Given the description of an element on the screen output the (x, y) to click on. 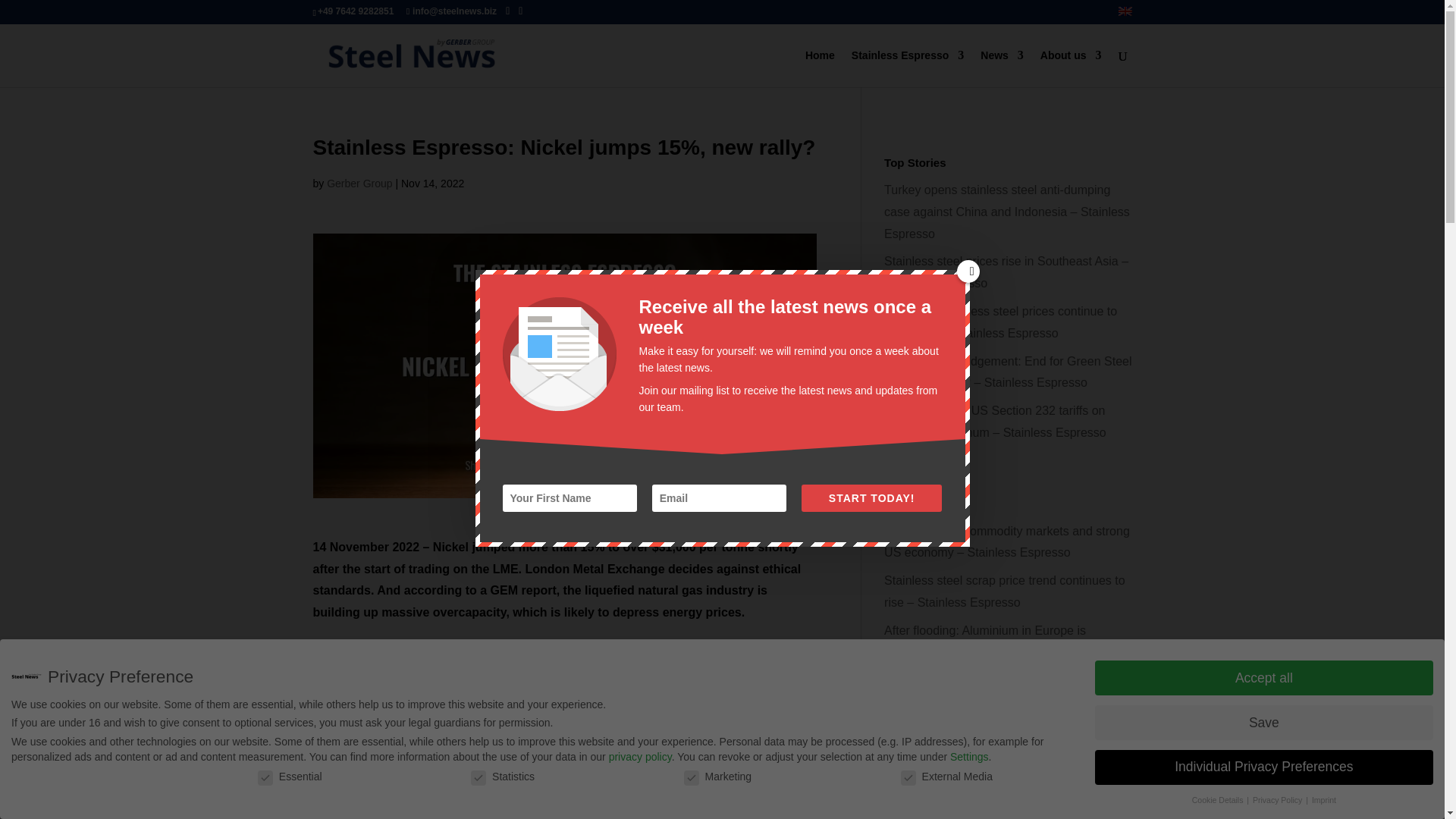
Posts by Gerber Group (358, 183)
About us (1071, 67)
London Metal Exchange without ethical standards (513, 794)
Gerber Group (358, 183)
Stainless Espresso (907, 67)
New investments, G20, cryptos? (519, 766)
News (1001, 67)
